Given the description of an element on the screen output the (x, y) to click on. 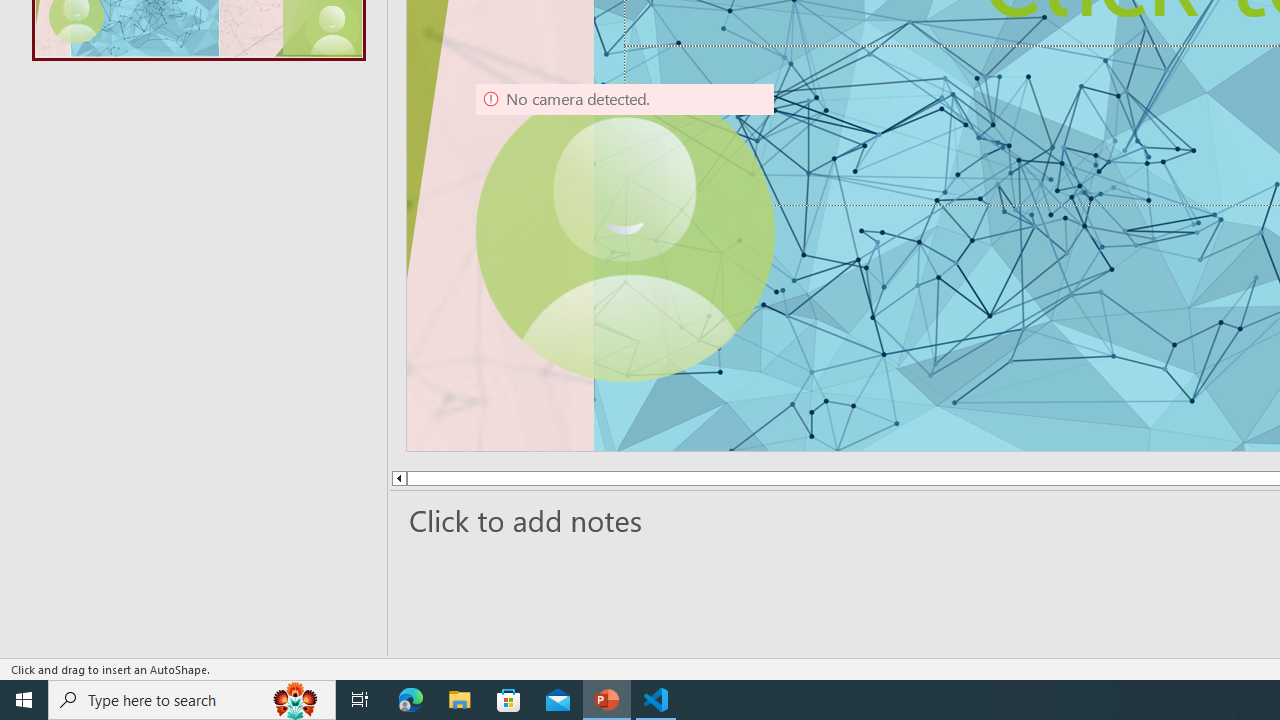
Camera 9, No camera detected. (624, 232)
